Given the description of an element on the screen output the (x, y) to click on. 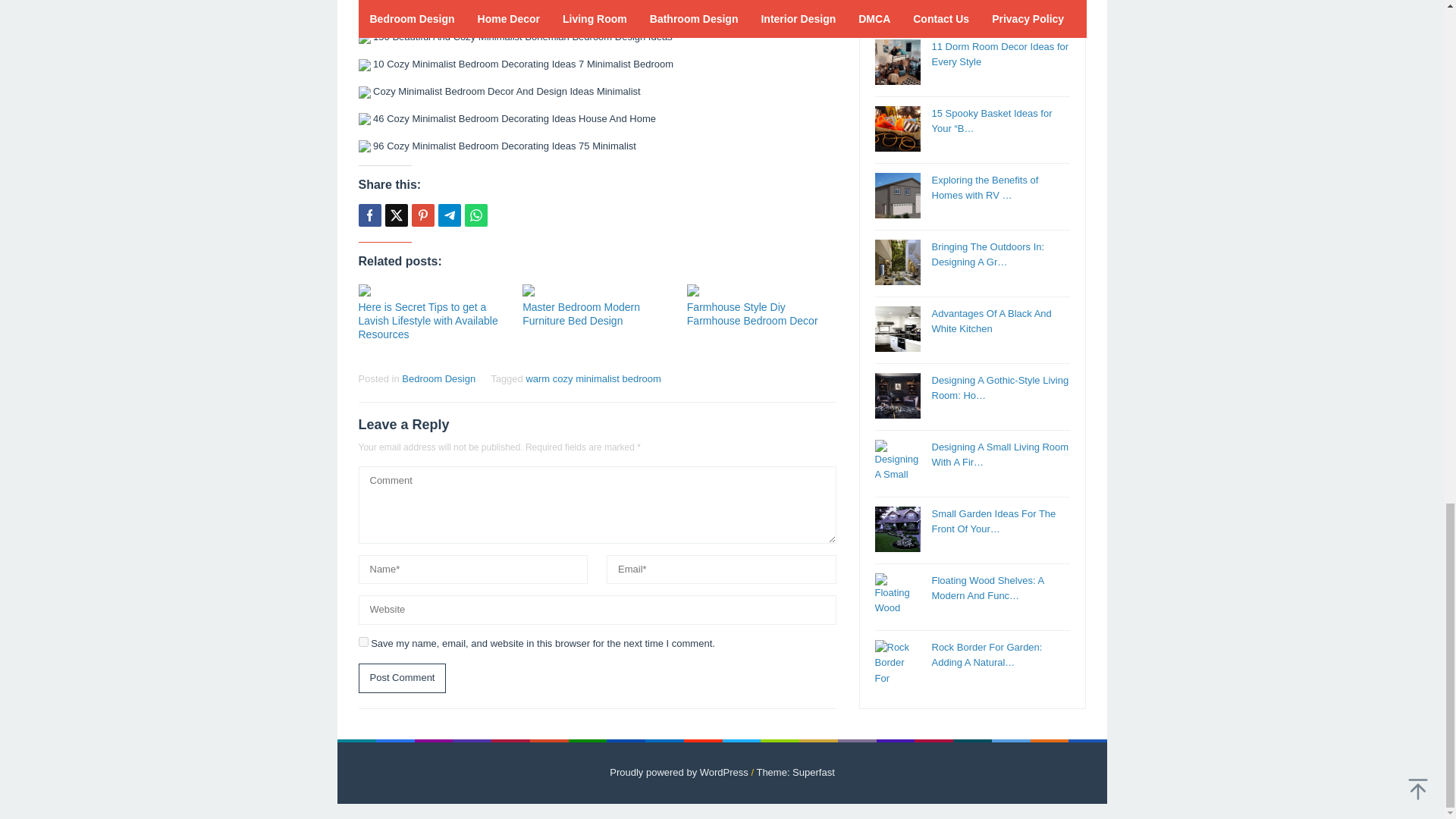
Tweet this (396, 214)
Pin this (421, 214)
Permalink to: Master Bedroom Modern Furniture Bed Design (596, 290)
Telegram Share (449, 214)
Share this (369, 214)
yes (363, 642)
Permalink to: Farmhouse Style Diy Farmhouse Bedroom Decor (761, 290)
Whatsapp (475, 214)
